Given the description of an element on the screen output the (x, y) to click on. 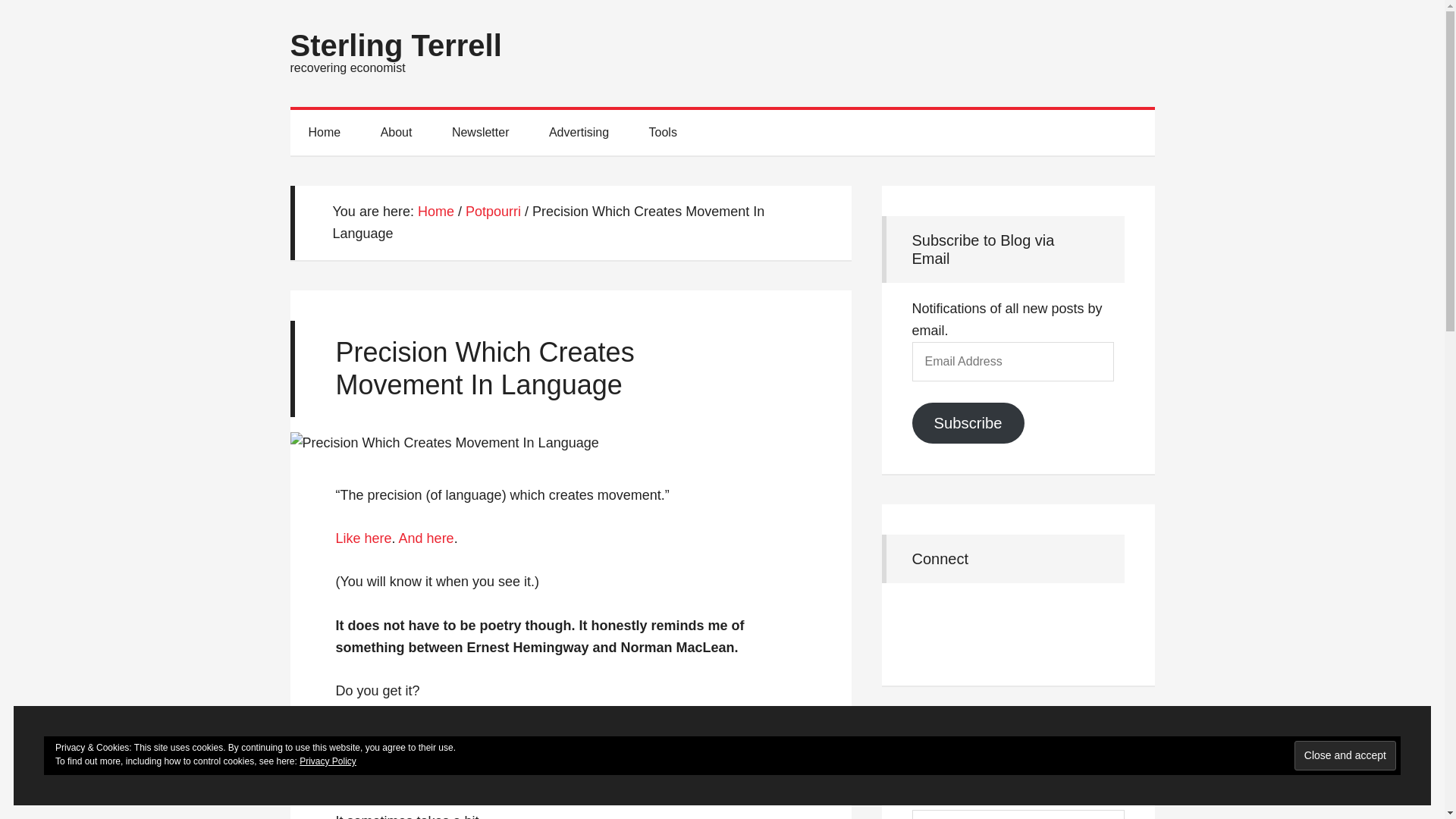
Facebook (929, 616)
And here (426, 538)
Tools (662, 132)
About (396, 132)
Home (435, 211)
Sterling Terrell (394, 45)
Newsletter (480, 132)
Twitter (1050, 616)
Pinterest (1010, 616)
Close and accept (1345, 755)
Home (323, 132)
LinkedIn (970, 616)
Privacy Policy (327, 760)
